Given the description of an element on the screen output the (x, y) to click on. 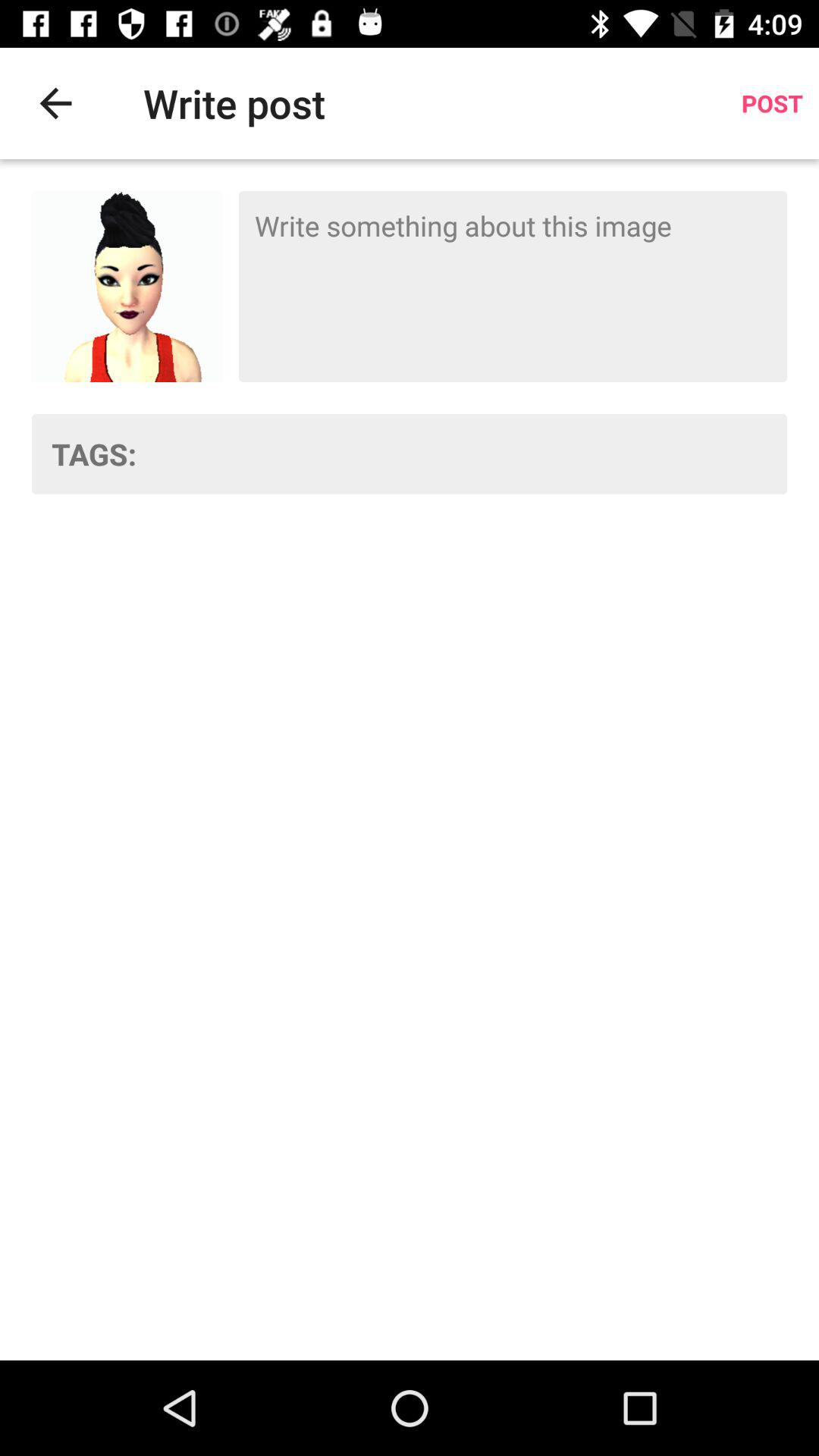
launch item to the left of write post (55, 103)
